Given the description of an element on the screen output the (x, y) to click on. 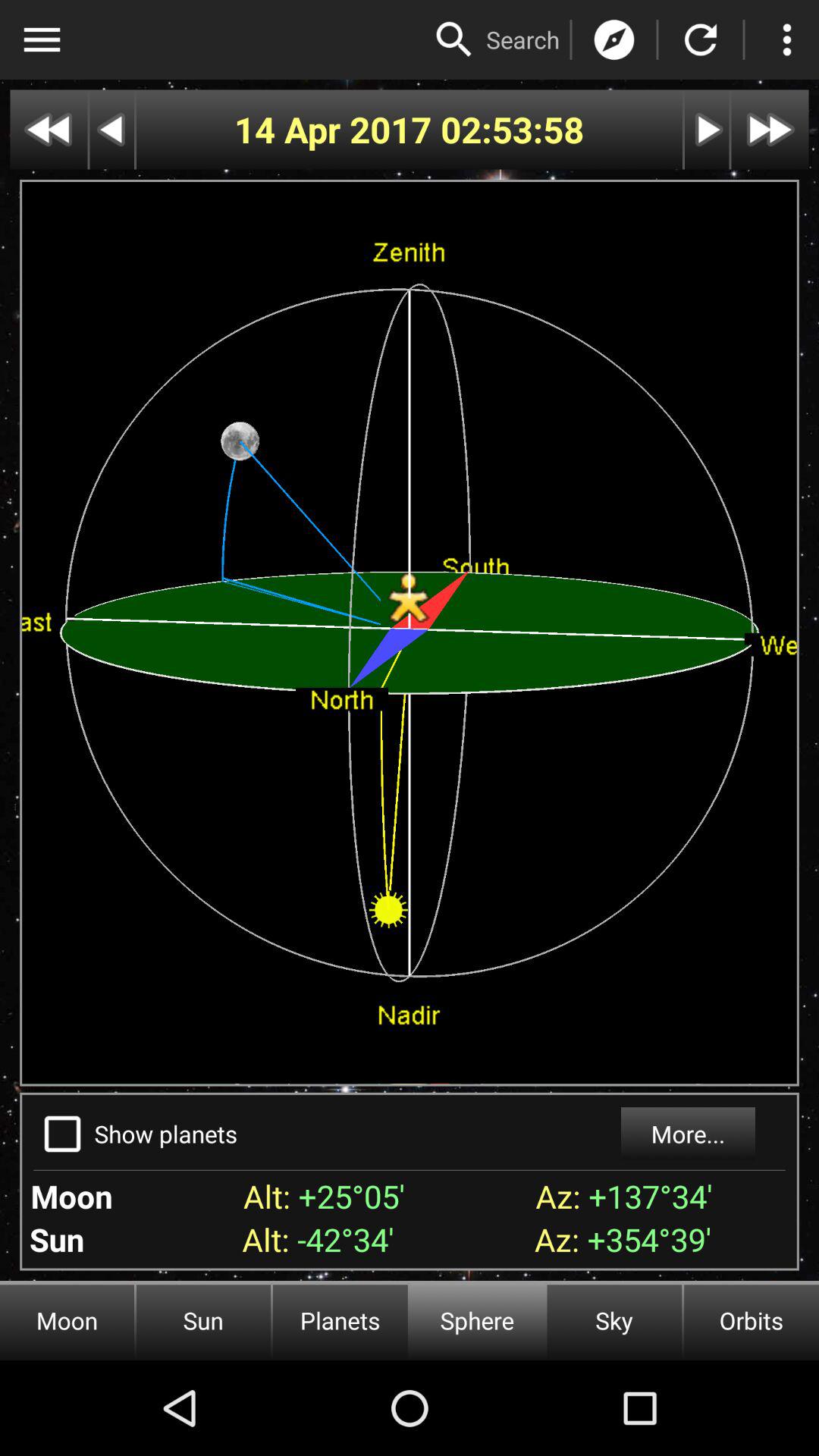
scroll to more... (688, 1133)
